Given the description of an element on the screen output the (x, y) to click on. 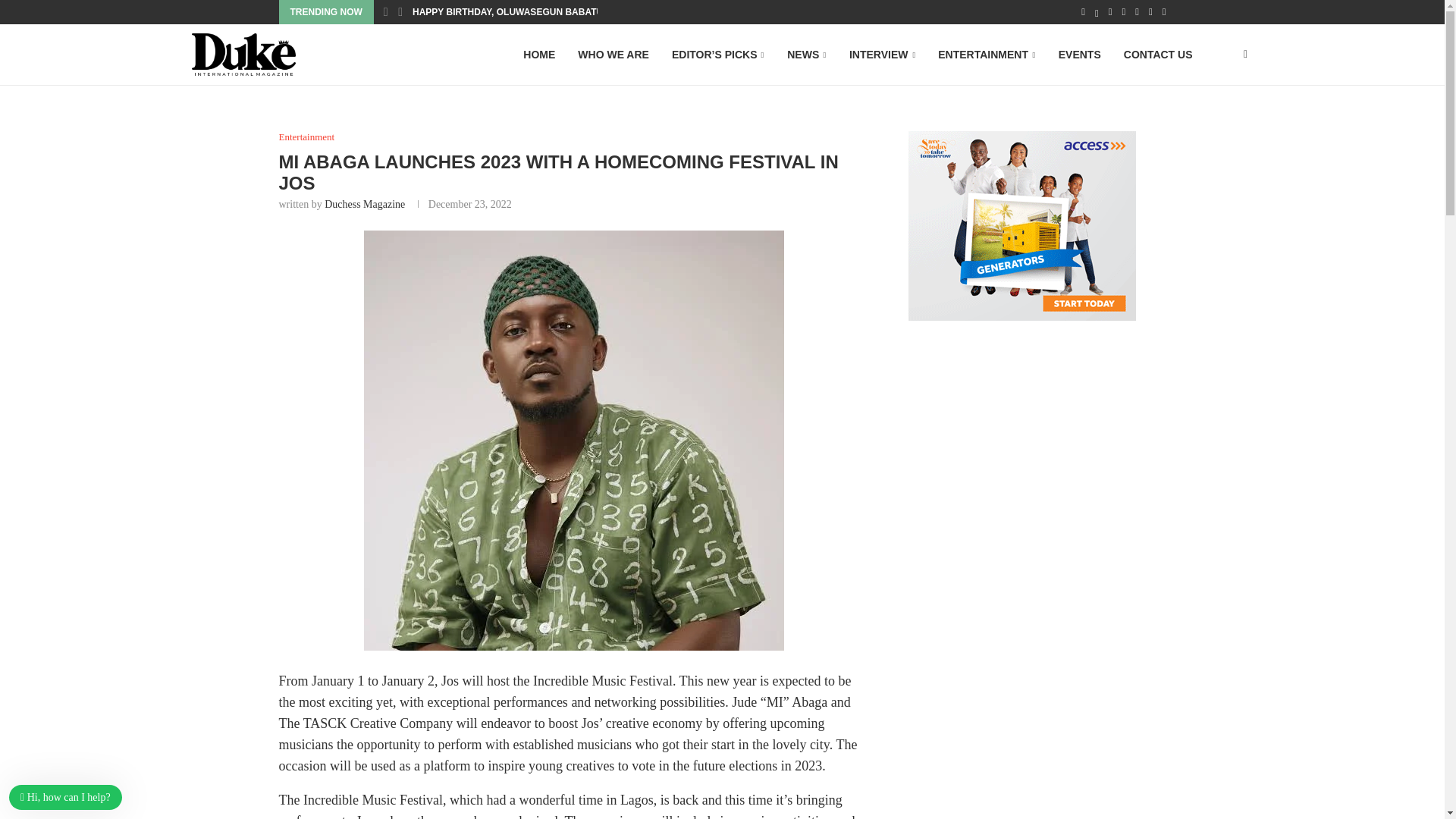
WHO WE ARE (613, 54)
HAPPY BIRTHDAY, OLUWASEGUN BABATUNDE! (518, 12)
HOME (539, 54)
